Given the description of an element on the screen output the (x, y) to click on. 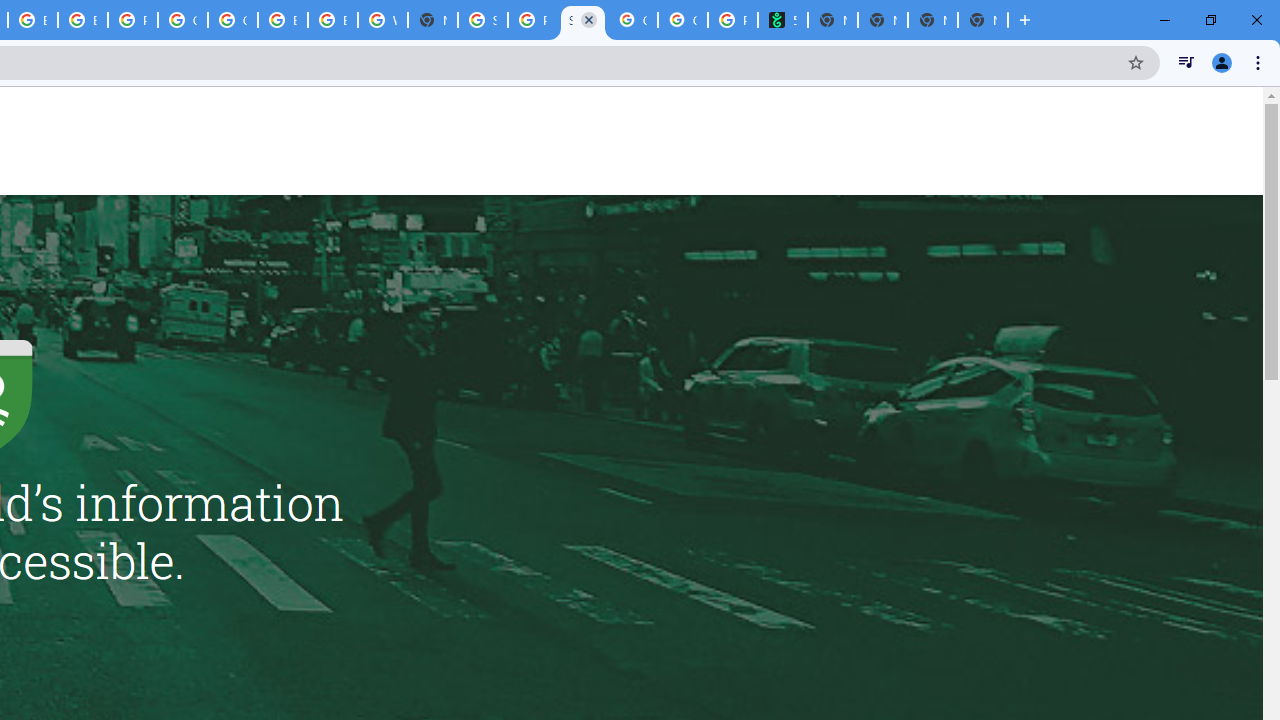
Google Cloud Platform (232, 20)
Google Cloud Platform (182, 20)
Browse Chrome as a guest - Computer - Google Chrome Help (283, 20)
